Given the description of an element on the screen output the (x, y) to click on. 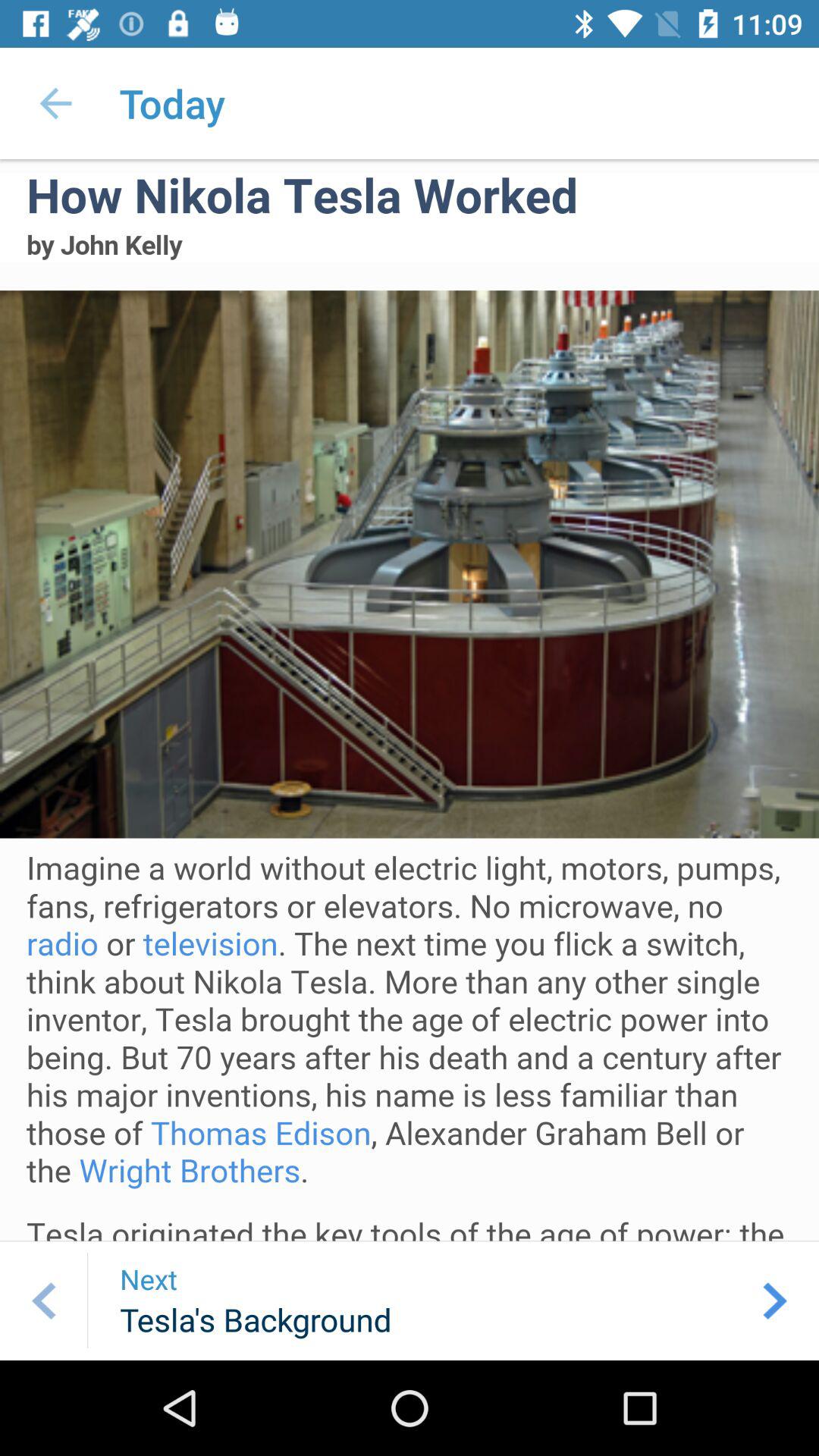
go to previous (43, 1300)
